Given the description of an element on the screen output the (x, y) to click on. 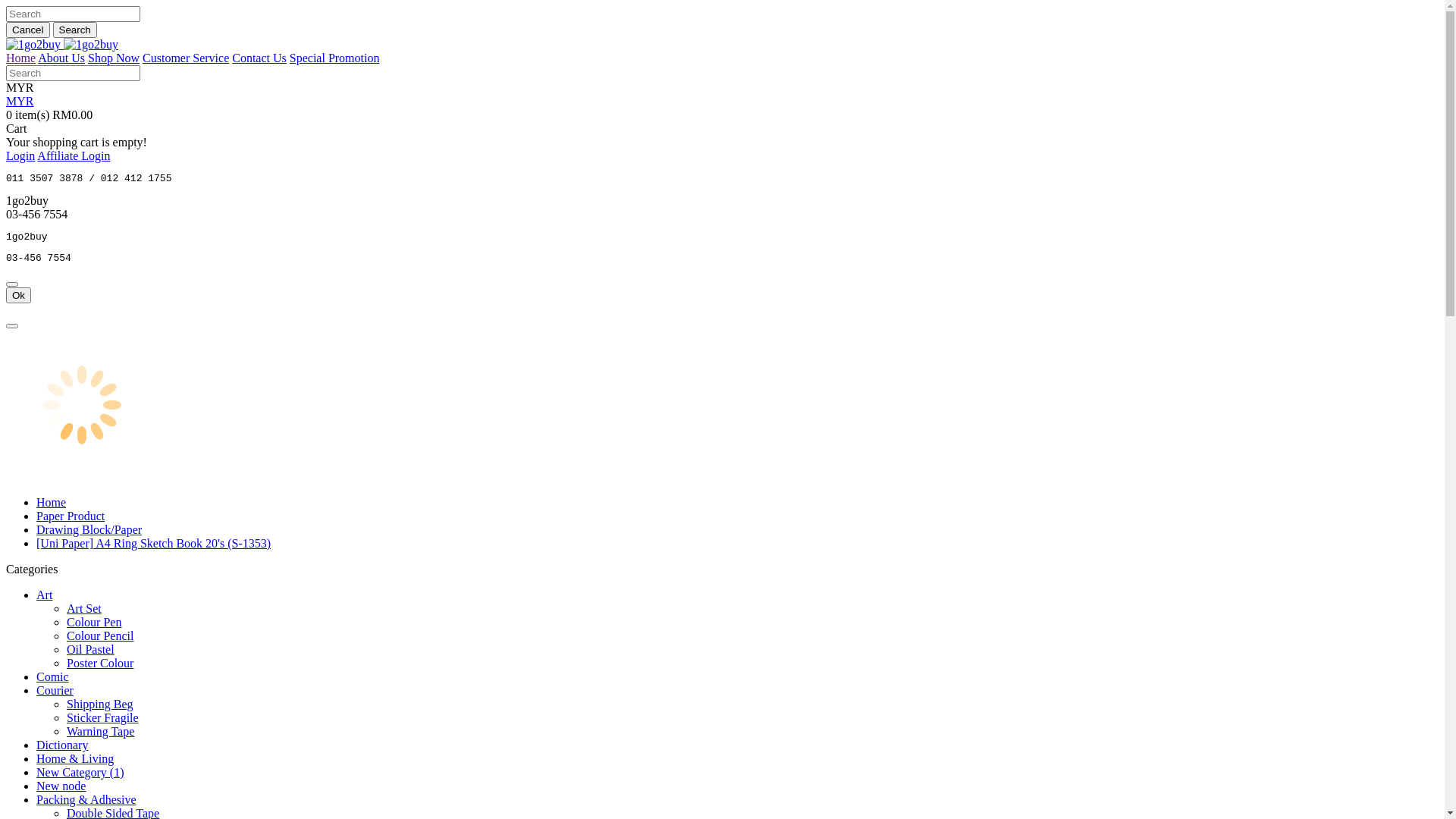
Shipping Beg Element type: text (99, 703)
Ok Element type: text (18, 295)
Affiliate Login Element type: text (73, 155)
Home Element type: text (50, 501)
Courier Element type: text (54, 690)
1go2buy Element type: hover (90, 44)
Login Element type: text (20, 155)
Contact Us Element type: text (259, 57)
Sticker Fragile Element type: text (102, 717)
[Uni Paper] A4 Ring Sketch Book 20's (S-1353) Element type: text (153, 542)
Cancel Element type: text (28, 29)
Warning Tape Element type: text (100, 730)
Paper Product Element type: text (70, 515)
Home Element type: text (20, 57)
Home & Living Element type: text (74, 758)
Poster Colour Element type: text (99, 662)
Dictionary Element type: text (61, 744)
New node Element type: text (60, 785)
Customer Service Element type: text (185, 57)
Packing & Adhesive Element type: text (86, 799)
Colour Pencil Element type: text (99, 635)
New Category (1) Element type: text (80, 771)
About Us Element type: text (60, 57)
MYR Element type: text (19, 100)
Comic Element type: text (52, 676)
Shop Now Element type: text (113, 57)
Art Set Element type: text (83, 608)
Colour Pen Element type: text (93, 621)
Special Promotion Element type: text (334, 57)
Drawing Block/Paper Element type: text (88, 529)
Oil Pastel Element type: text (90, 649)
1go2buy Element type: hover (33, 44)
Search Element type: text (75, 29)
Art Element type: text (44, 594)
MYR Element type: text (19, 87)
